Given the description of an element on the screen output the (x, y) to click on. 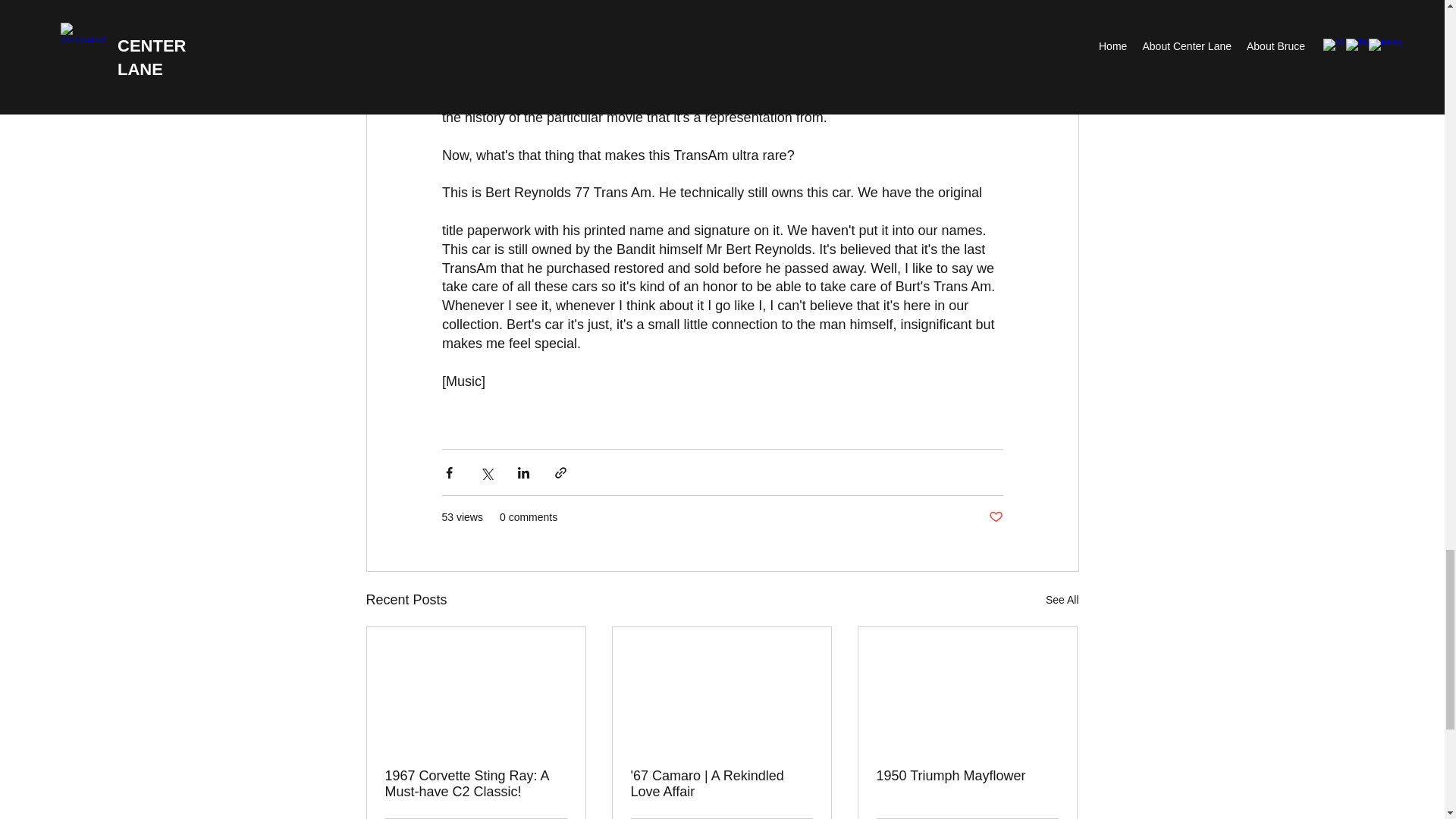
Post not marked as liked (995, 517)
See All (1061, 599)
1950 Triumph Mayflower (967, 775)
1967 Corvette Sting Ray: A Must-have C2 Classic! (476, 784)
